Given the description of an element on the screen output the (x, y) to click on. 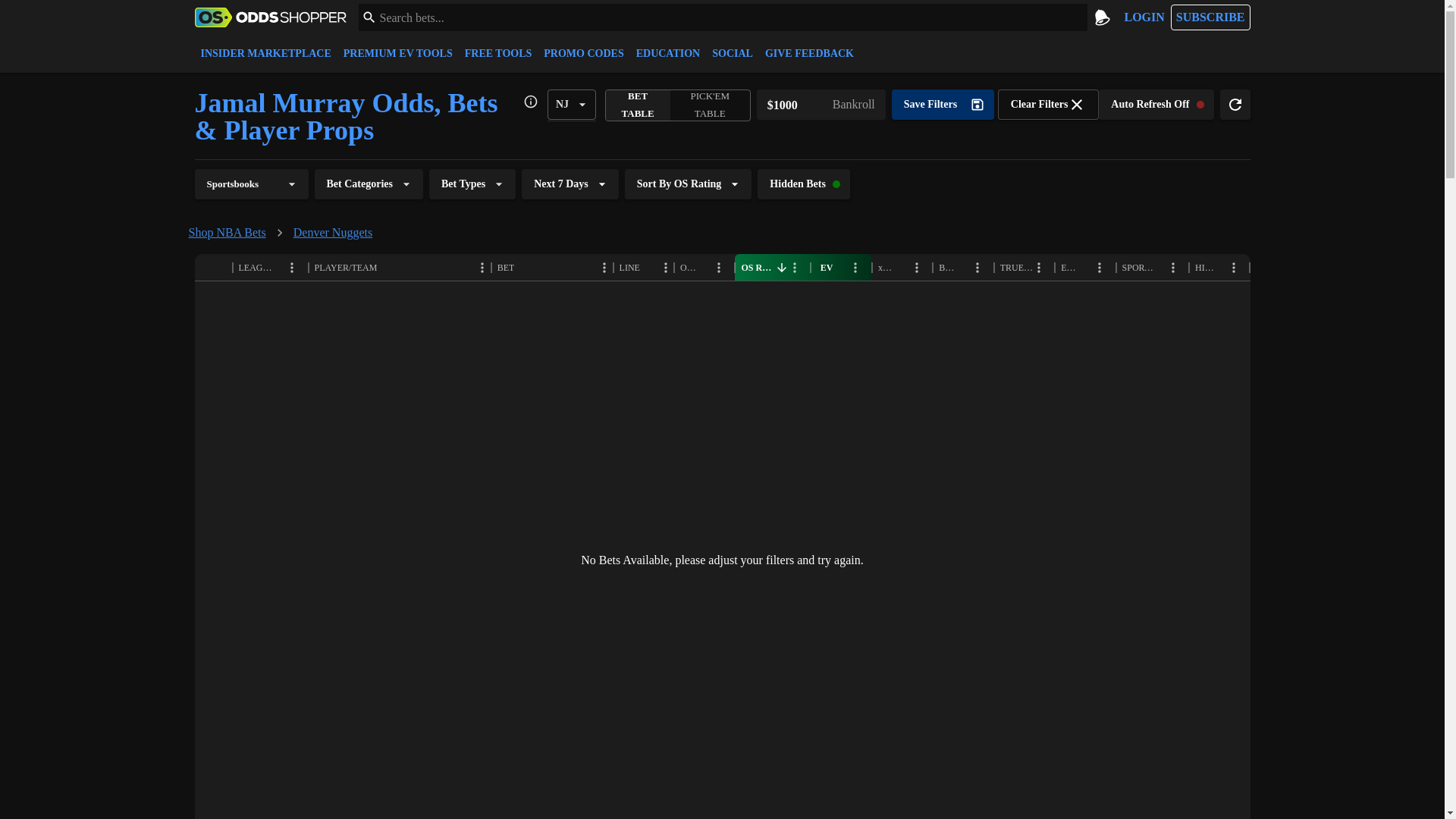
PICK'EM TABLE (709, 105)
PROMO CODES (582, 53)
EDUCATION (668, 53)
Save Filters (942, 104)
Sort (965, 267)
Sort (1087, 267)
NJ (571, 104)
GIVE FEEDBACK (809, 53)
Next 7 Days (569, 183)
FREE TOOLS (498, 53)
